Given the description of an element on the screen output the (x, y) to click on. 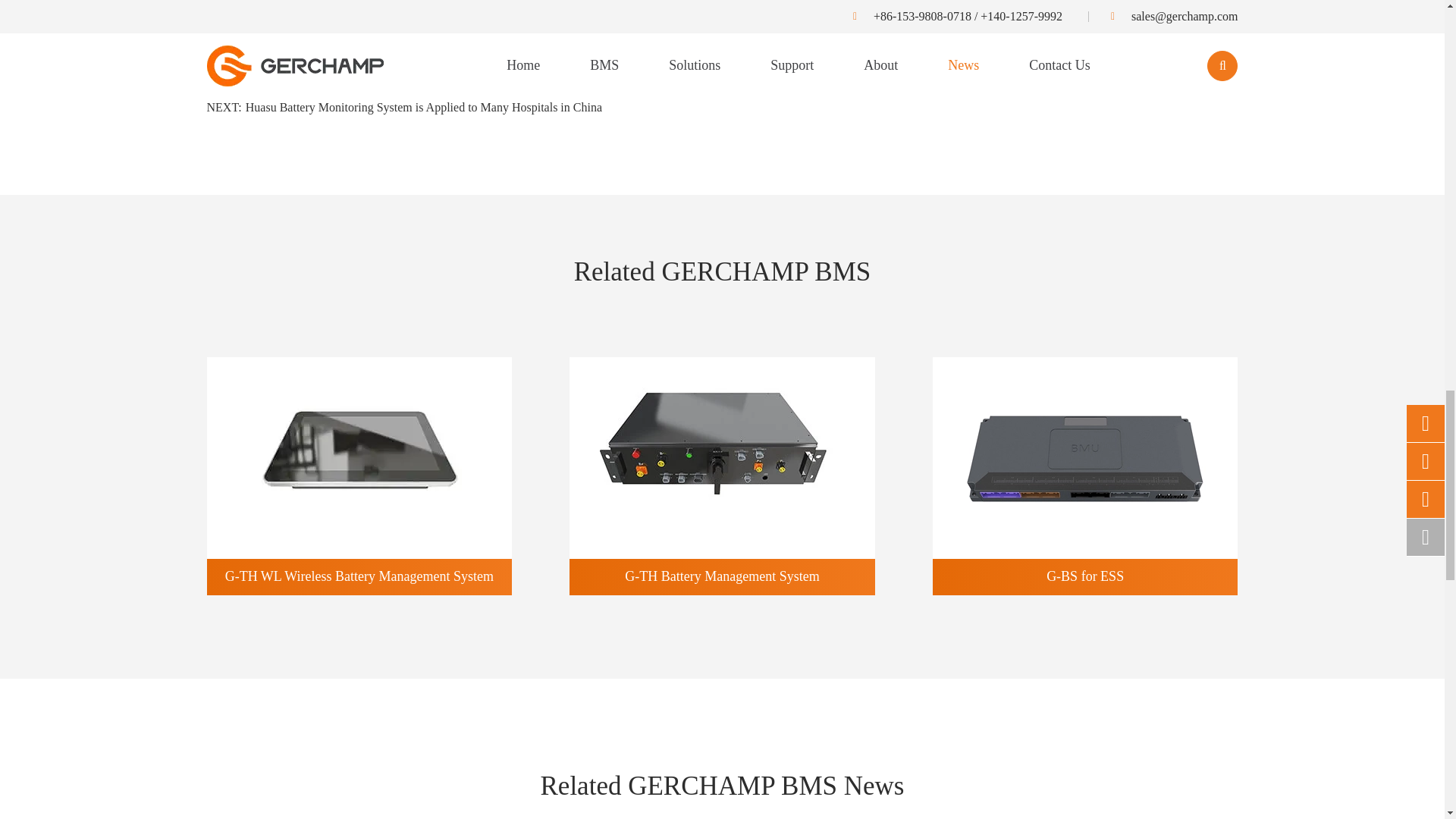
G-TH Battery Management System (722, 457)
G-TH WL Wireless Battery Management System (359, 457)
G-BS for ESS (1085, 457)
